Given the description of an element on the screen output the (x, y) to click on. 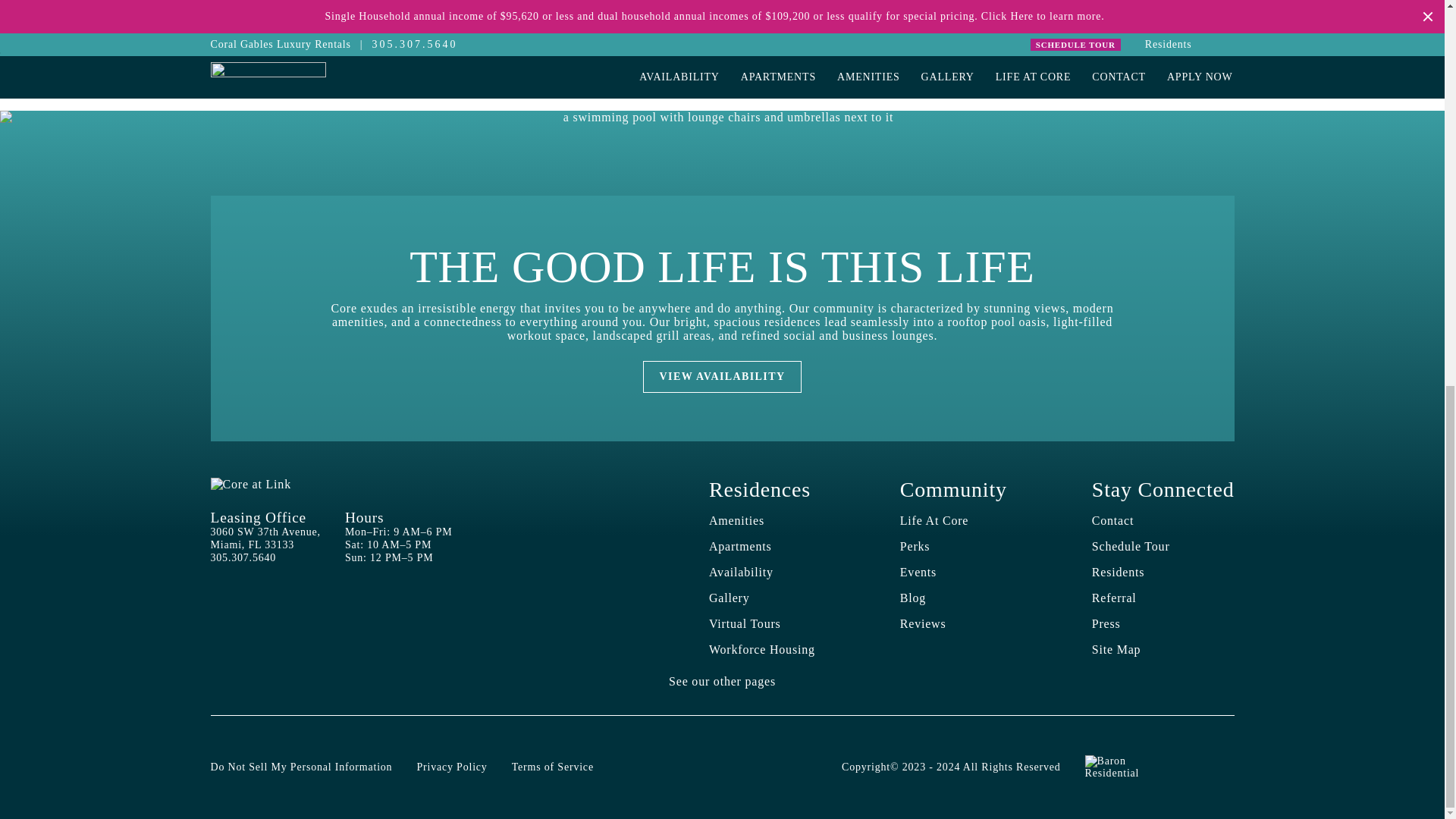
Go to Availability page (741, 571)
Equal Housing Opportunity (1219, 767)
Go to Apartments page (740, 545)
Amenities (736, 520)
305.307.5640 (243, 557)
Go to Virtual Tours page (744, 623)
Go to Life At Core page (933, 520)
Go to Amenities page (736, 520)
Go to Workforce Housing page (762, 649)
VIEW AVAILABILITY (722, 377)
Core at Link (251, 484)
Go to Gallery page (729, 597)
